Given the description of an element on the screen output the (x, y) to click on. 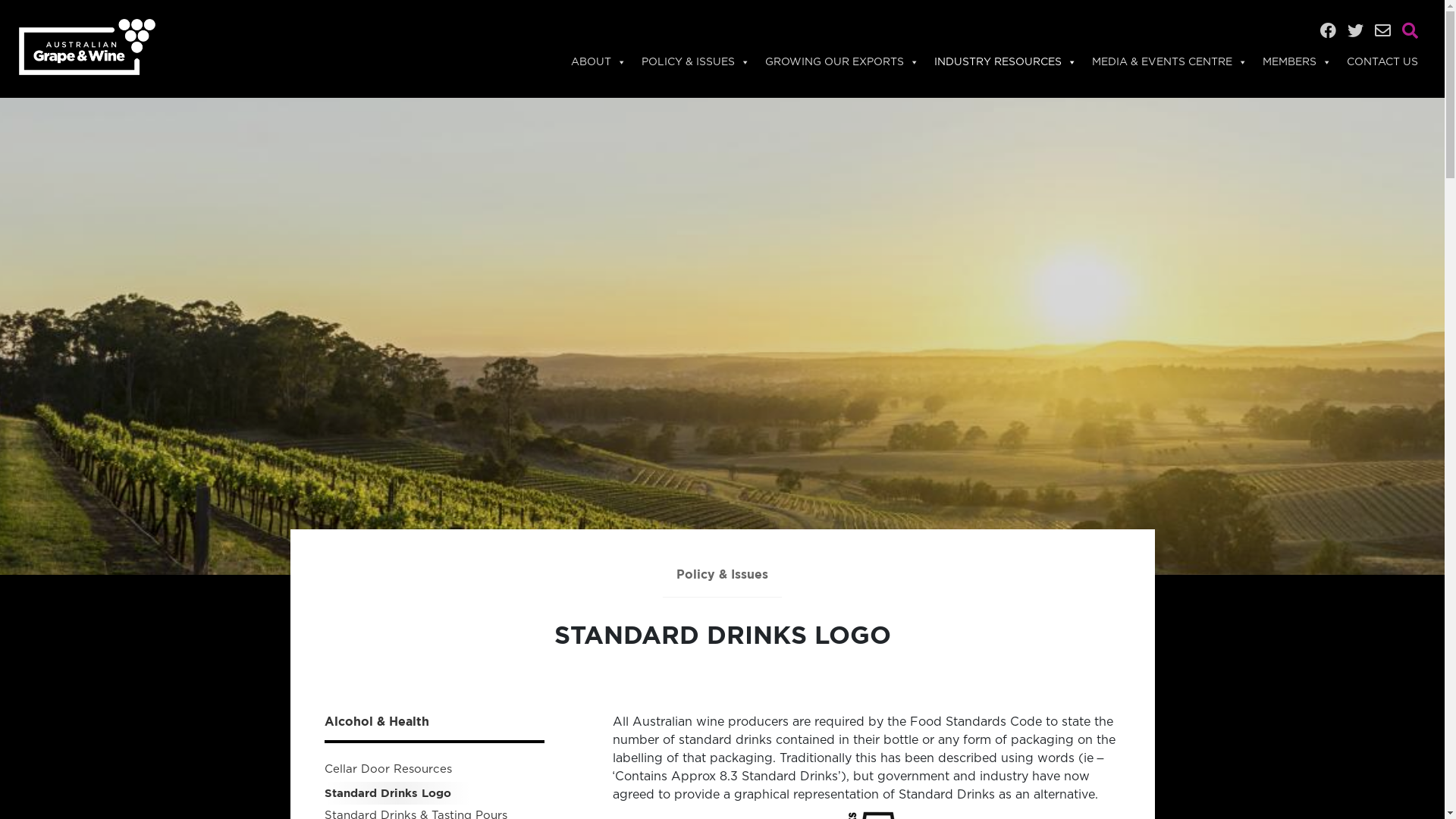
Cellar Door Resources Element type: text (387, 769)
CONTACT US Element type: text (1382, 62)
MEDIA & EVENTS CENTRE Element type: text (1169, 62)
INDUSTRY RESOURCES Element type: text (1005, 62)
ABOUT Element type: text (598, 62)
Standard Drinks Logo Element type: text (387, 793)
MEMBERS Element type: text (1297, 62)
GROWING OUR EXPORTS Element type: text (841, 62)
POLICY & ISSUES Element type: text (695, 62)
Alcohol & Health Element type: text (434, 721)
SEARCH Element type: text (124, 49)
